Given the description of an element on the screen output the (x, y) to click on. 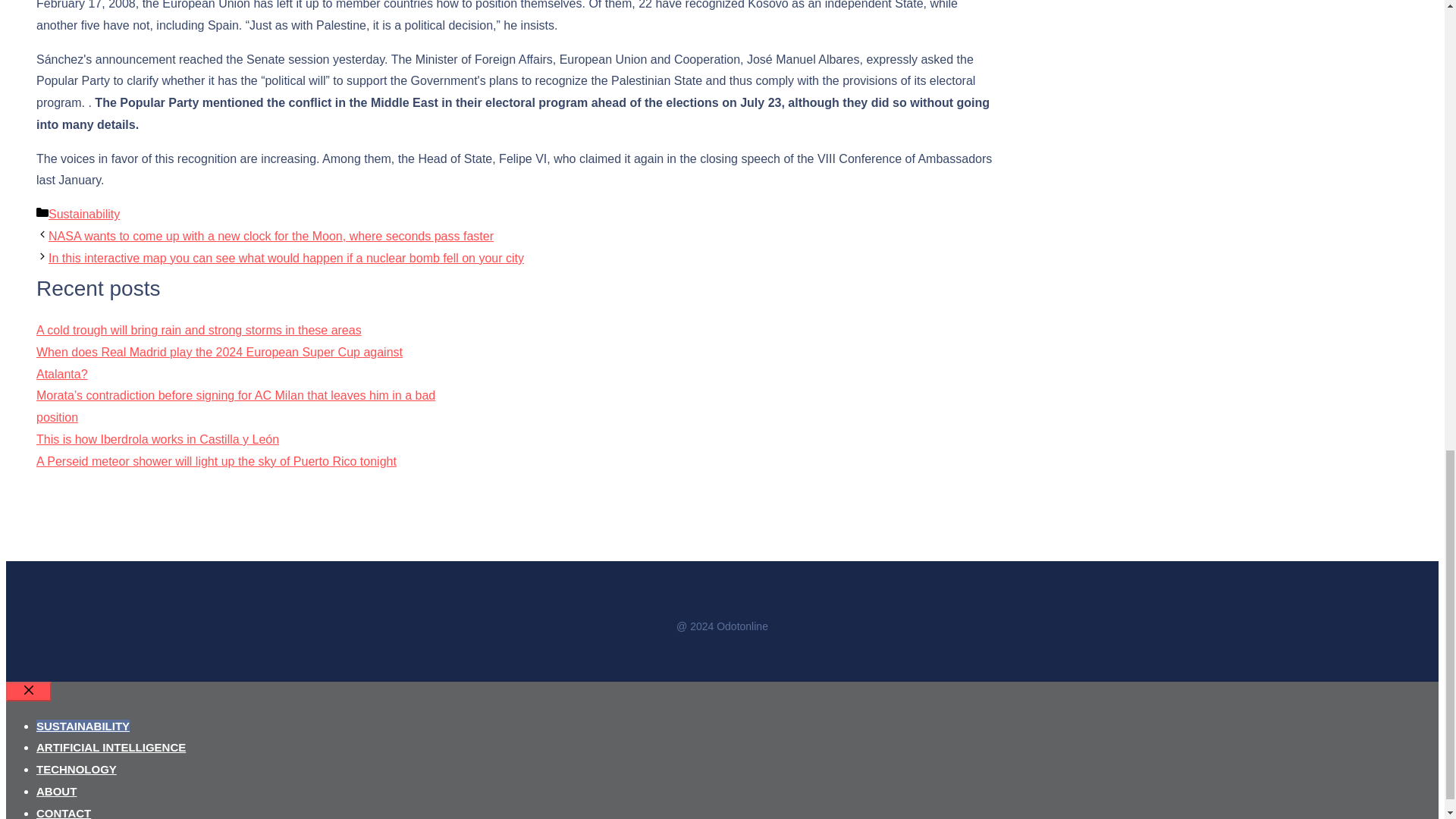
Sustainability (83, 214)
TECHNOLOGY (76, 768)
ABOUT (56, 790)
ARTIFICIAL INTELLIGENCE (111, 747)
Close (27, 691)
